Given the description of an element on the screen output the (x, y) to click on. 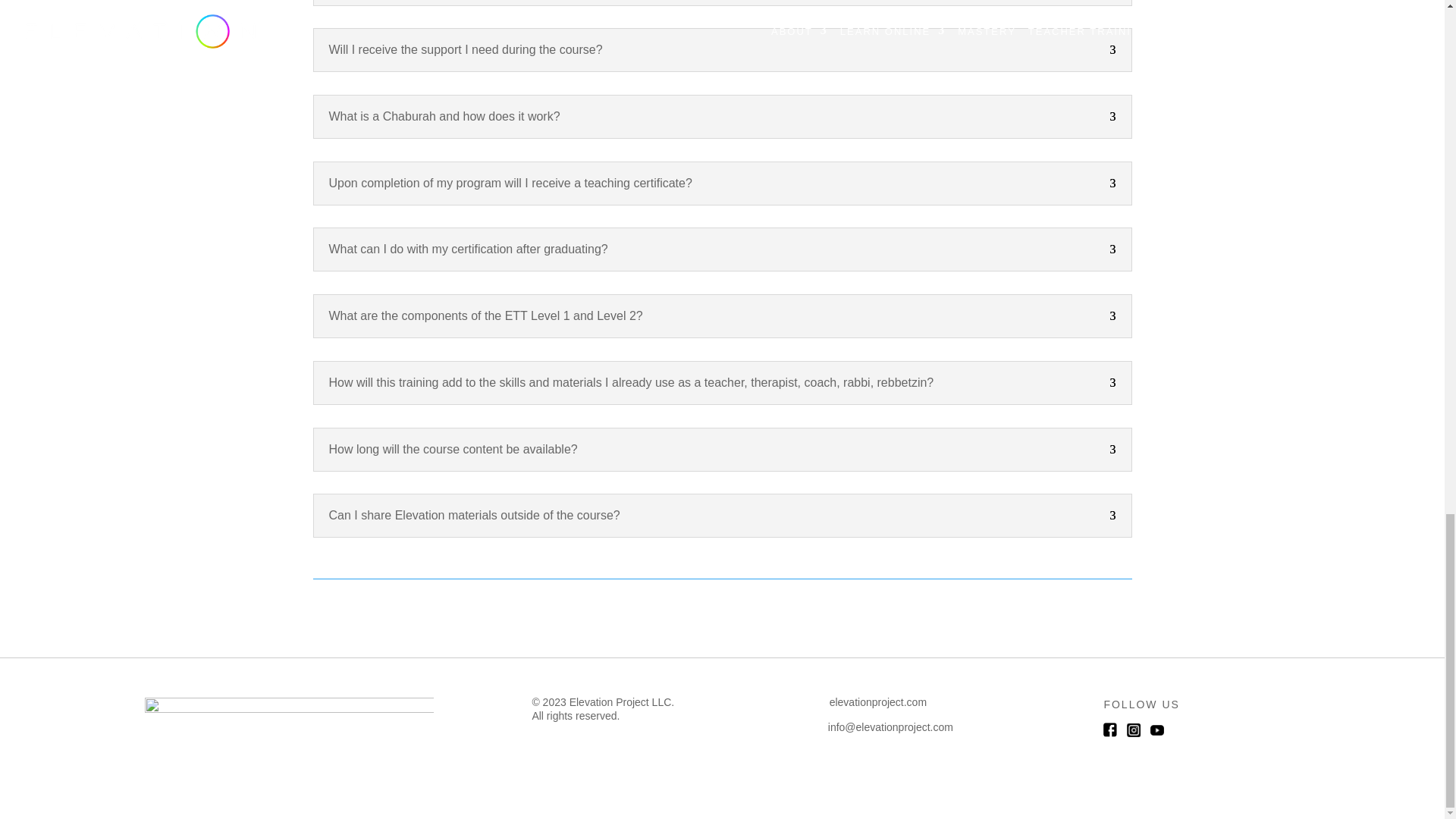
logo-footer-500-1 (288, 719)
